Given the description of an element on the screen output the (x, y) to click on. 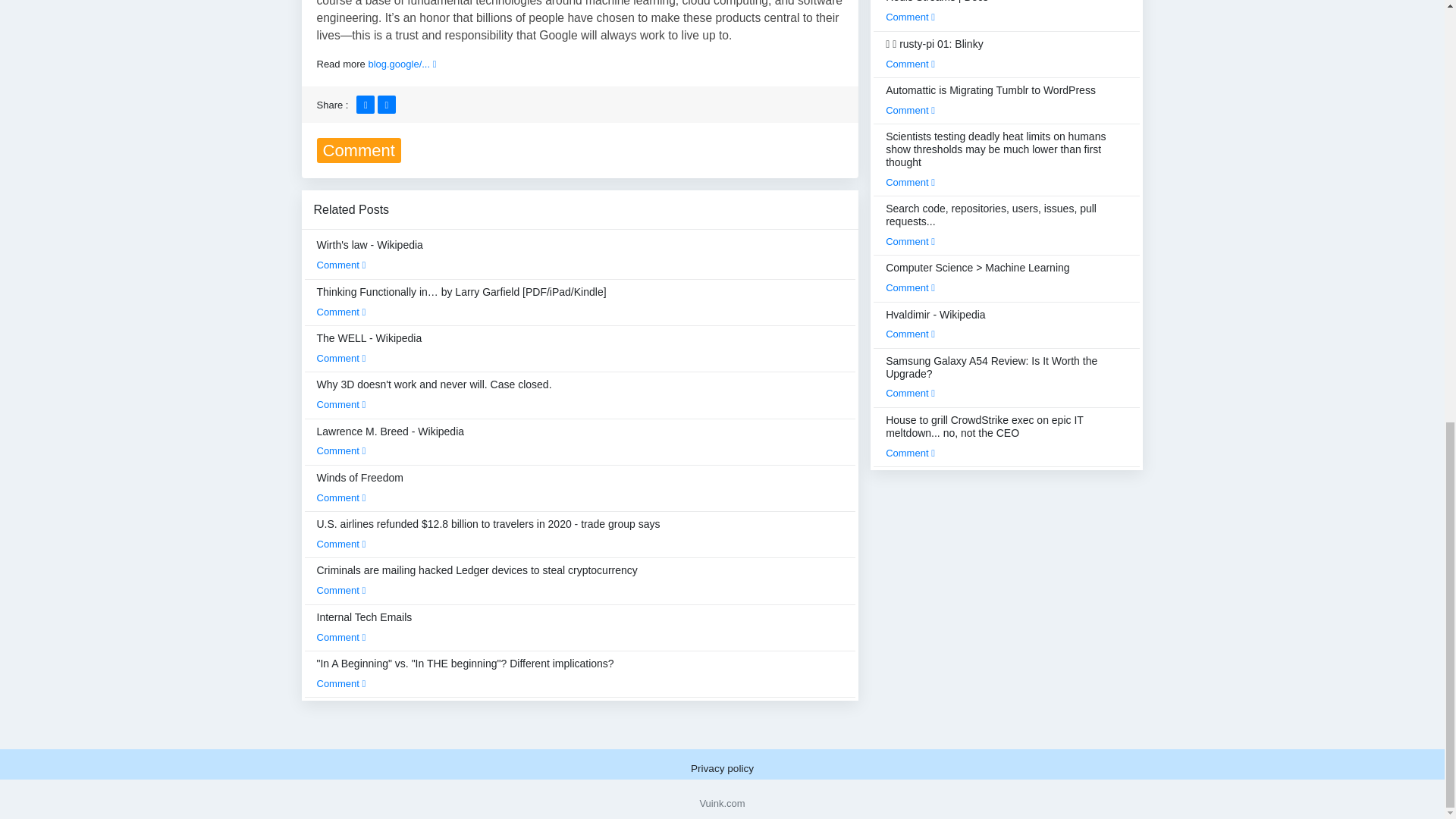
Wirth's law - Wikipedia (370, 255)
Comment (341, 357)
Comment (341, 590)
Why 3D doesn't work and never will. Case closed. (434, 394)
Comment (341, 404)
Lawrence M. Breed - Wikipedia (390, 441)
Comment (341, 311)
Comment (341, 450)
Comment (341, 497)
Comment (341, 265)
